Given the description of an element on the screen output the (x, y) to click on. 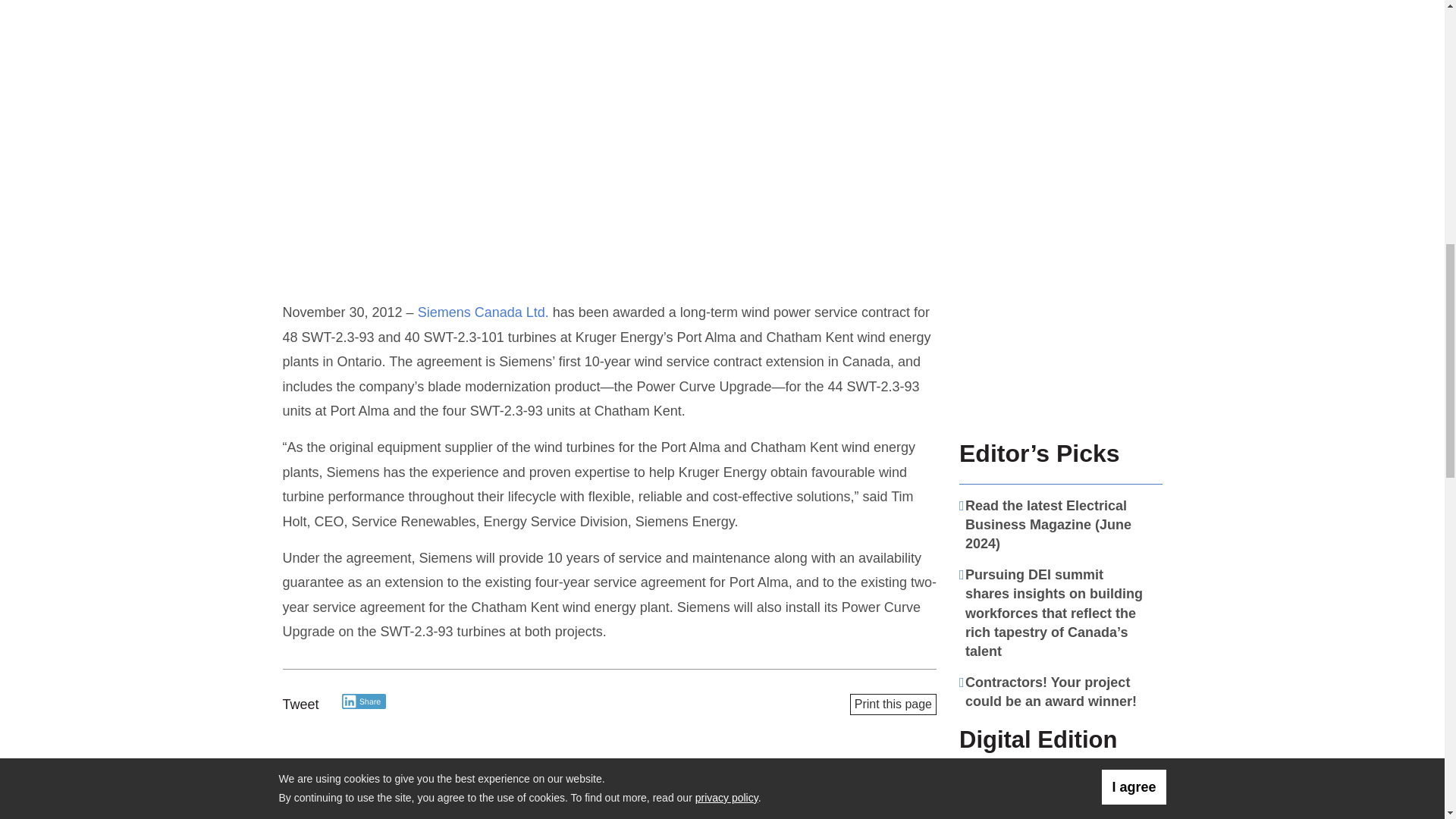
3rd party ad content (1060, 330)
3rd party ad content (1060, 113)
